Given the description of an element on the screen output the (x, y) to click on. 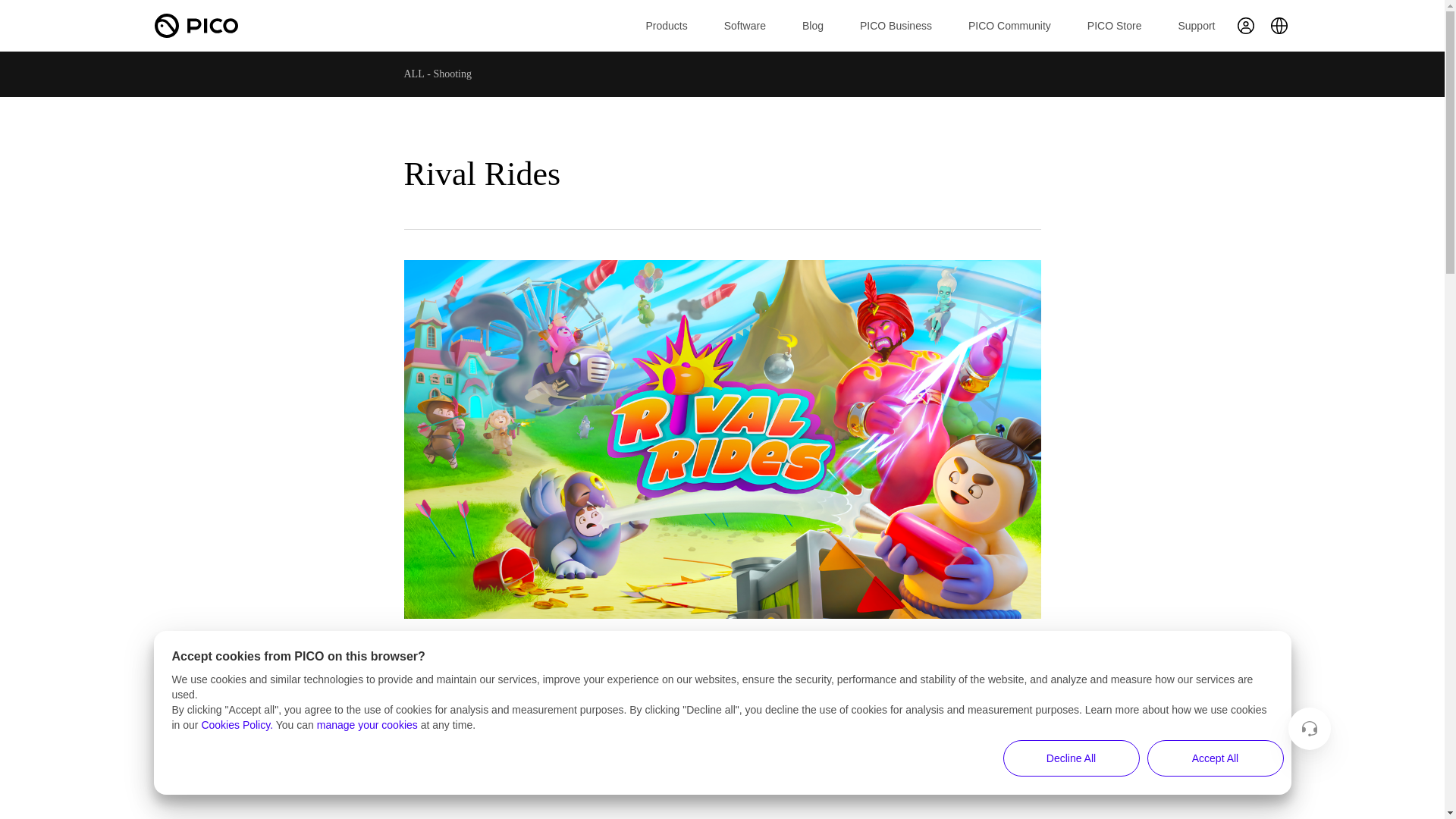
Blog (813, 25)
Support (1195, 25)
PICO Community (1009, 25)
PICO Store (1114, 25)
PICO Business (895, 25)
